Given the description of an element on the screen output the (x, y) to click on. 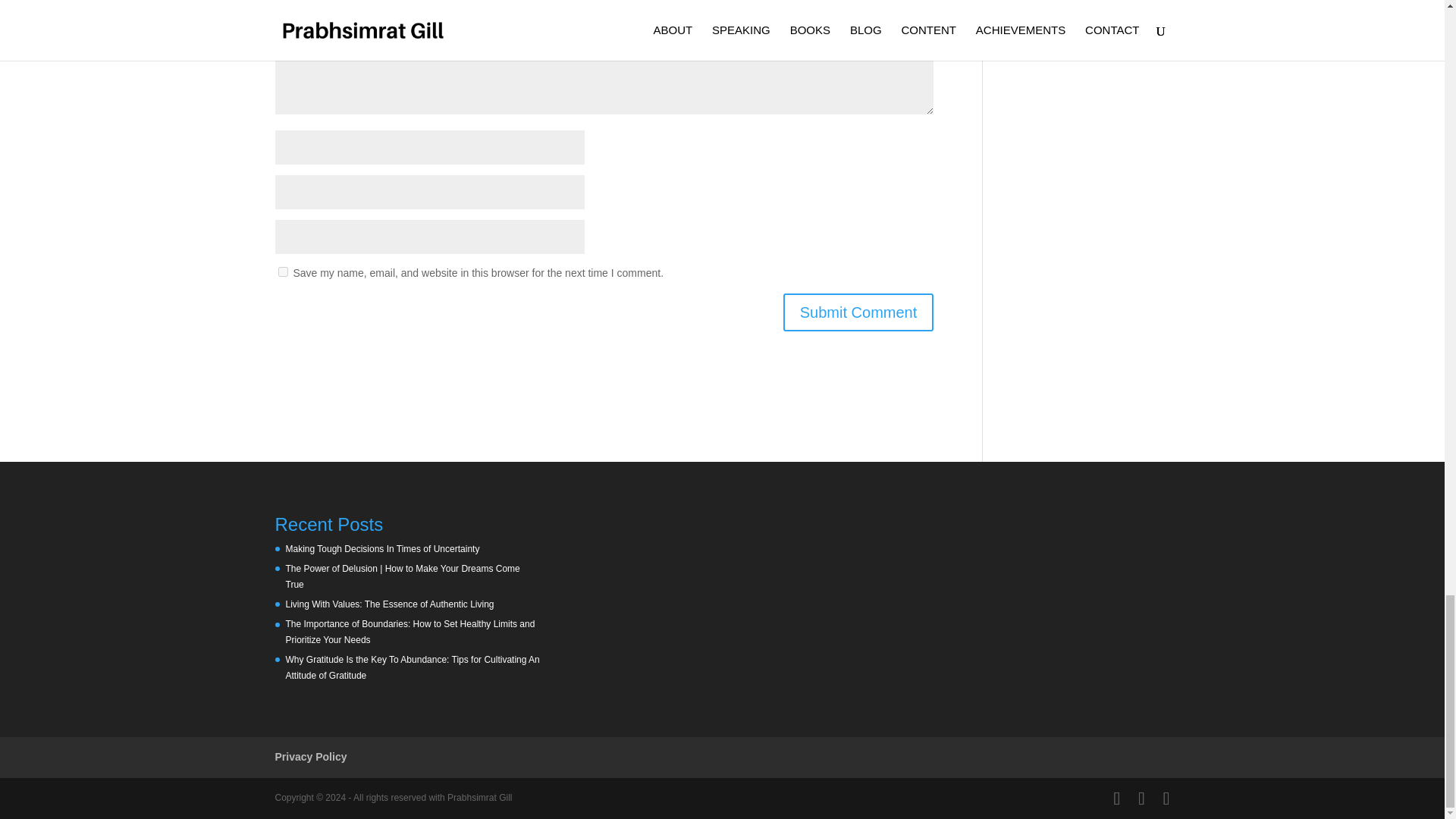
Making Tough Decisions In Times of Uncertainty (382, 548)
Submit Comment (858, 312)
Submit Comment (858, 312)
Privacy Policy (310, 756)
Living With Values: The Essence of Authentic Living (389, 603)
yes (282, 271)
